Given the description of an element on the screen output the (x, y) to click on. 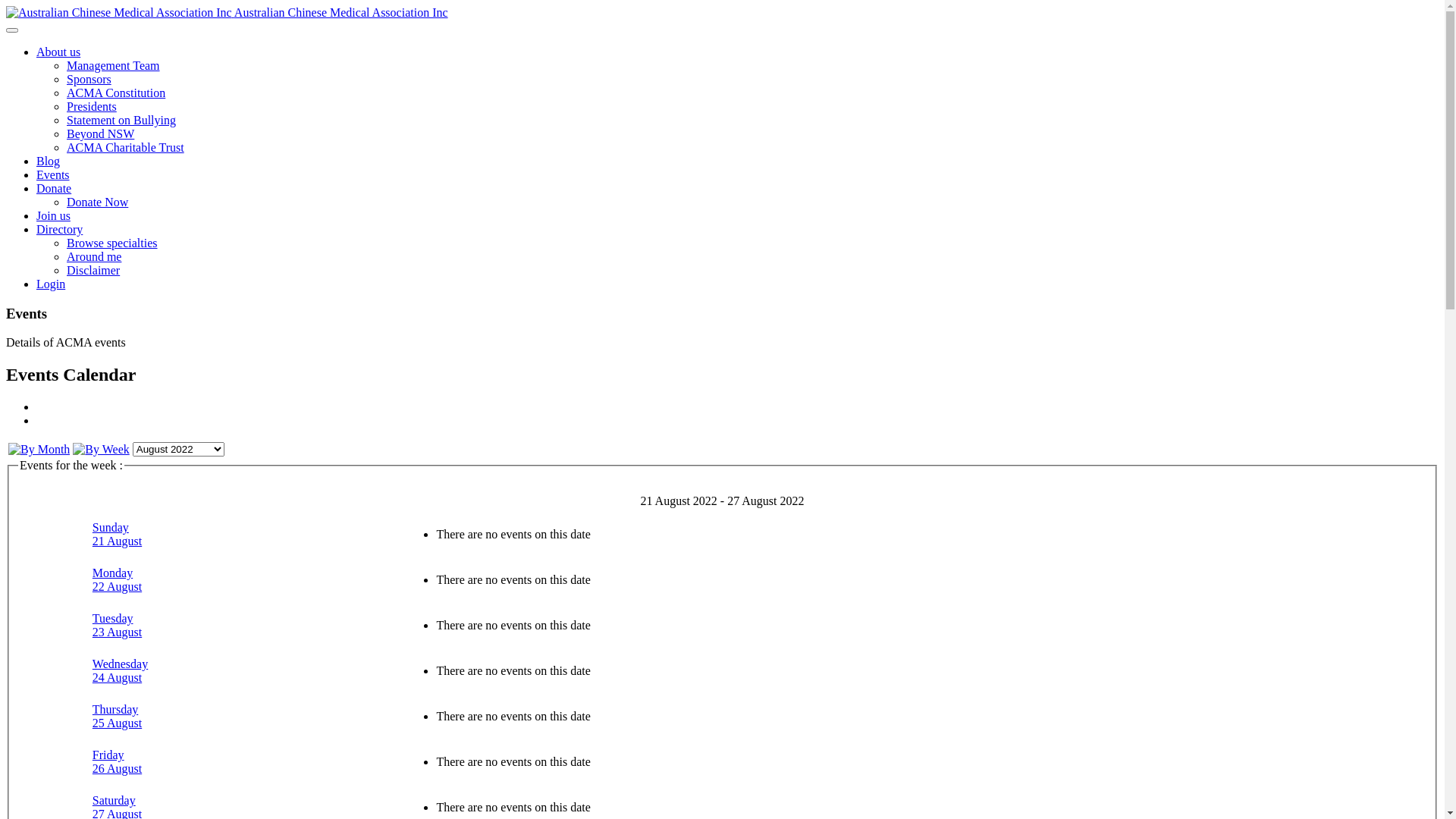
Management Team Element type: text (113, 65)
Around me Element type: text (93, 256)
By Month Element type: hover (38, 448)
About us Element type: text (58, 51)
ACMA Constitution Element type: text (115, 92)
Beyond NSW Element type: text (100, 133)
Statement on Bullying Element type: text (120, 119)
Login Element type: text (50, 283)
Browse specialties Element type: text (111, 242)
By Week Element type: hover (100, 448)
Presidents Element type: text (91, 106)
Events Element type: text (52, 174)
Tuesday
23 August Element type: text (116, 624)
Donate Now Element type: text (97, 201)
Wednesday
24 August Element type: text (119, 670)
Disclaimer Element type: text (92, 269)
ACMA Charitable Trust Element type: text (125, 147)
Sunday
21 August Element type: text (116, 533)
Thursday
25 August Element type: text (116, 715)
Blog Element type: text (47, 160)
Friday
26 August Element type: text (116, 761)
Monday
22 August Element type: text (116, 579)
Directory Element type: text (59, 228)
Join us Element type: text (53, 215)
Donate Element type: text (53, 188)
Australian Chinese Medical Association Inc Element type: text (227, 12)
Sponsors Element type: text (88, 78)
